Given the description of an element on the screen output the (x, y) to click on. 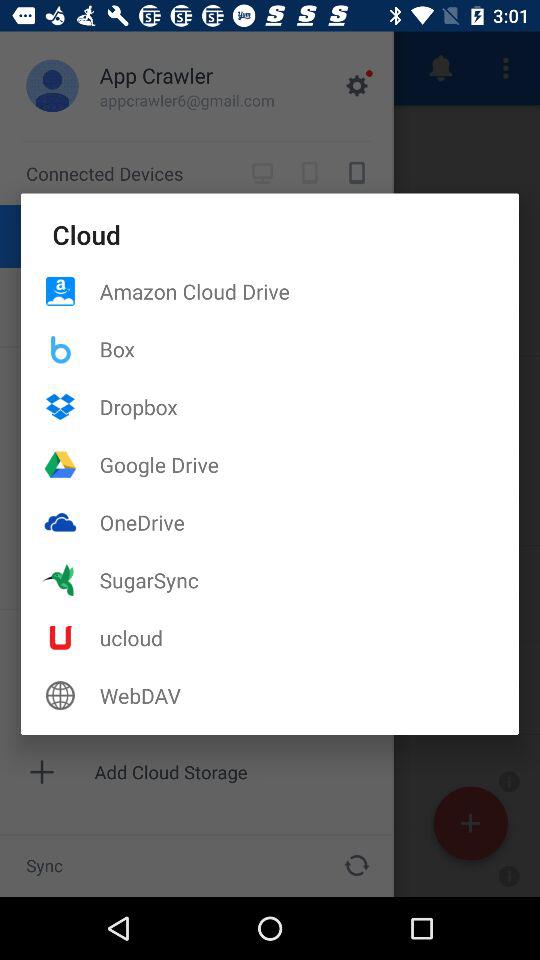
choose icon below onedrive item (309, 579)
